Given the description of an element on the screen output the (x, y) to click on. 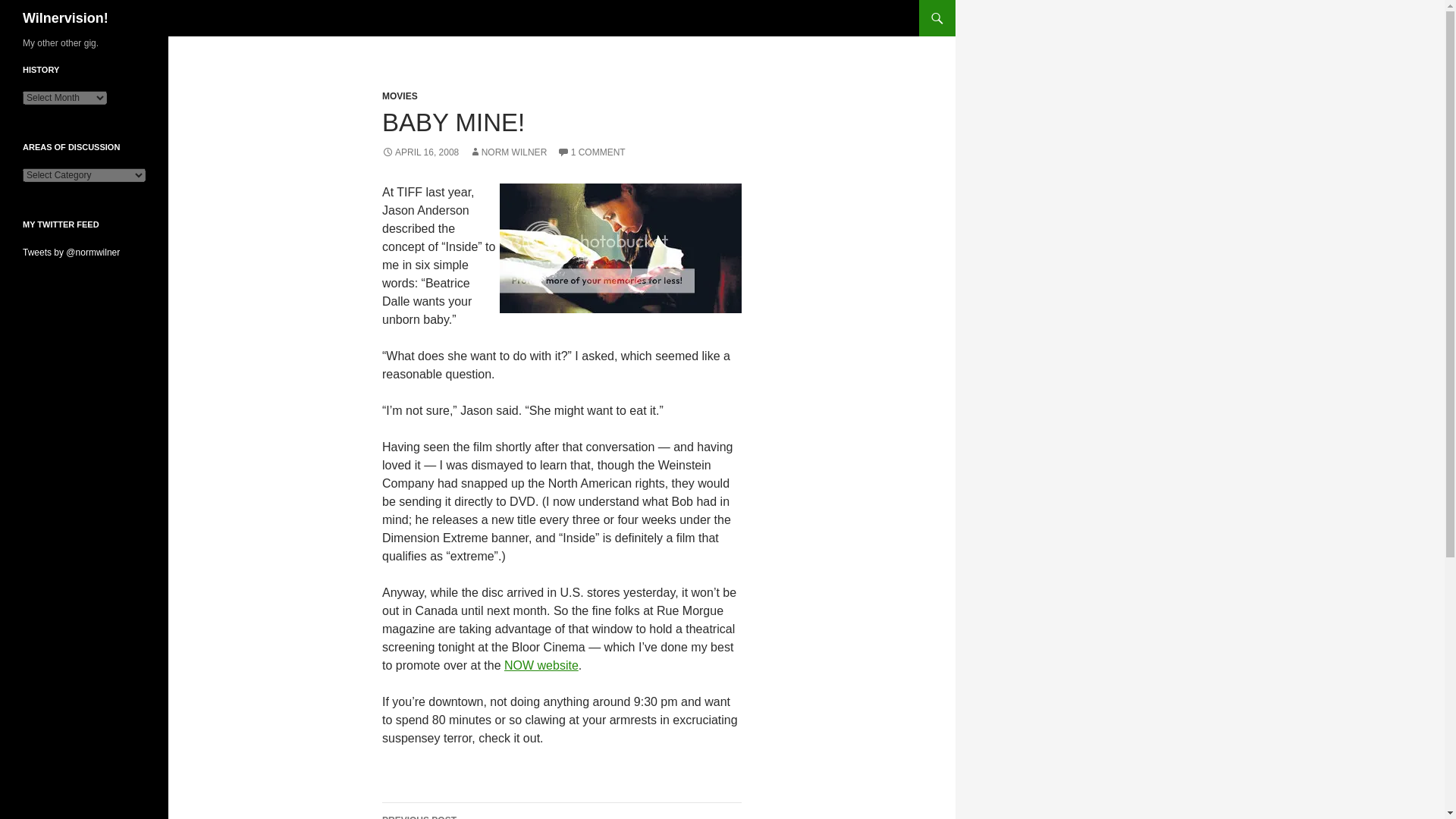
NORM WILNER (507, 152)
APRIL 16, 2008 (419, 152)
Wilnervision! (65, 18)
1 COMMENT (591, 152)
That wasn't your water breaking, sweetie (620, 247)
MOVIES (561, 811)
NOW website (399, 95)
